Given the description of an element on the screen output the (x, y) to click on. 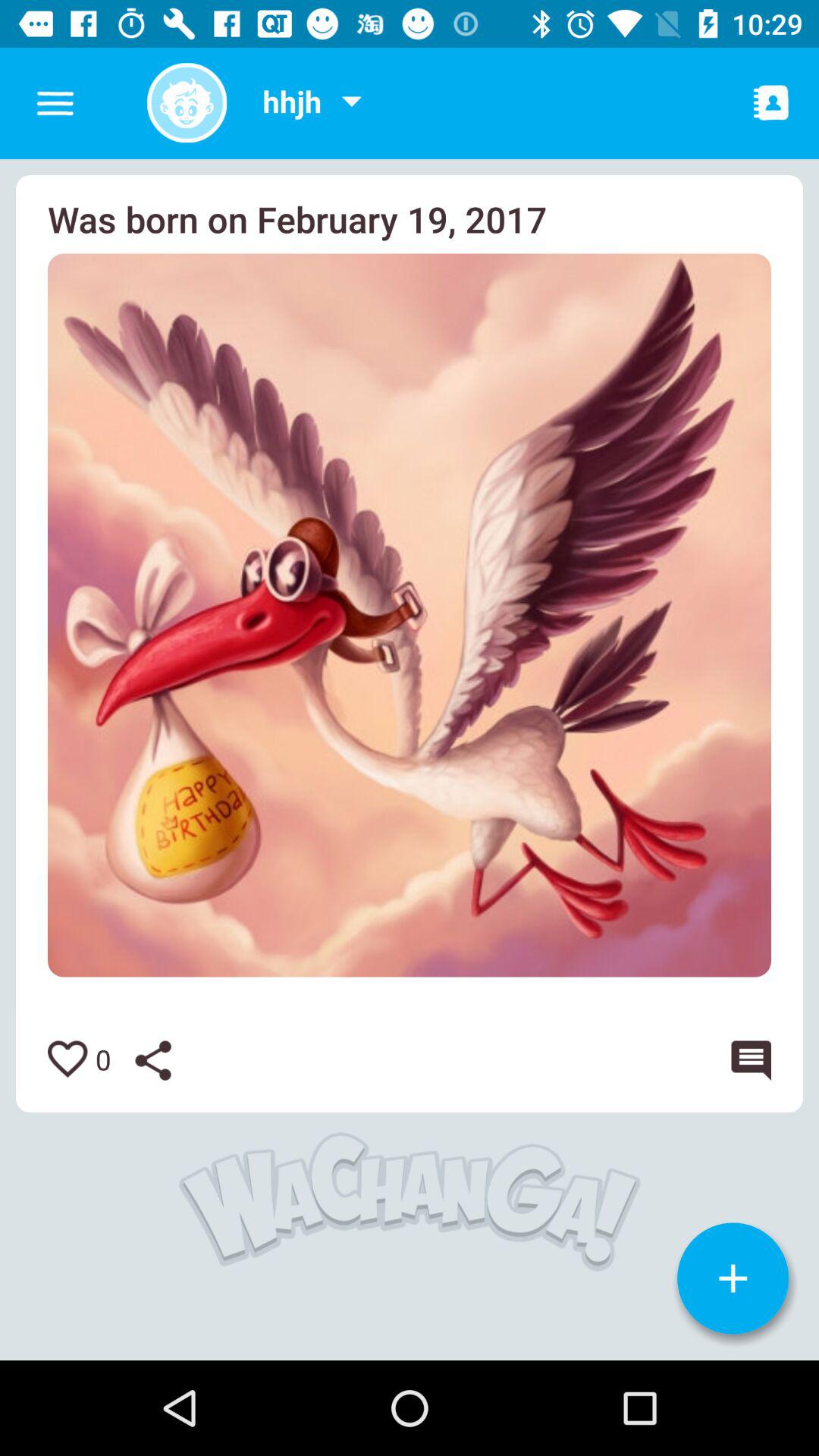
share the image (165, 1060)
